Given the description of an element on the screen output the (x, y) to click on. 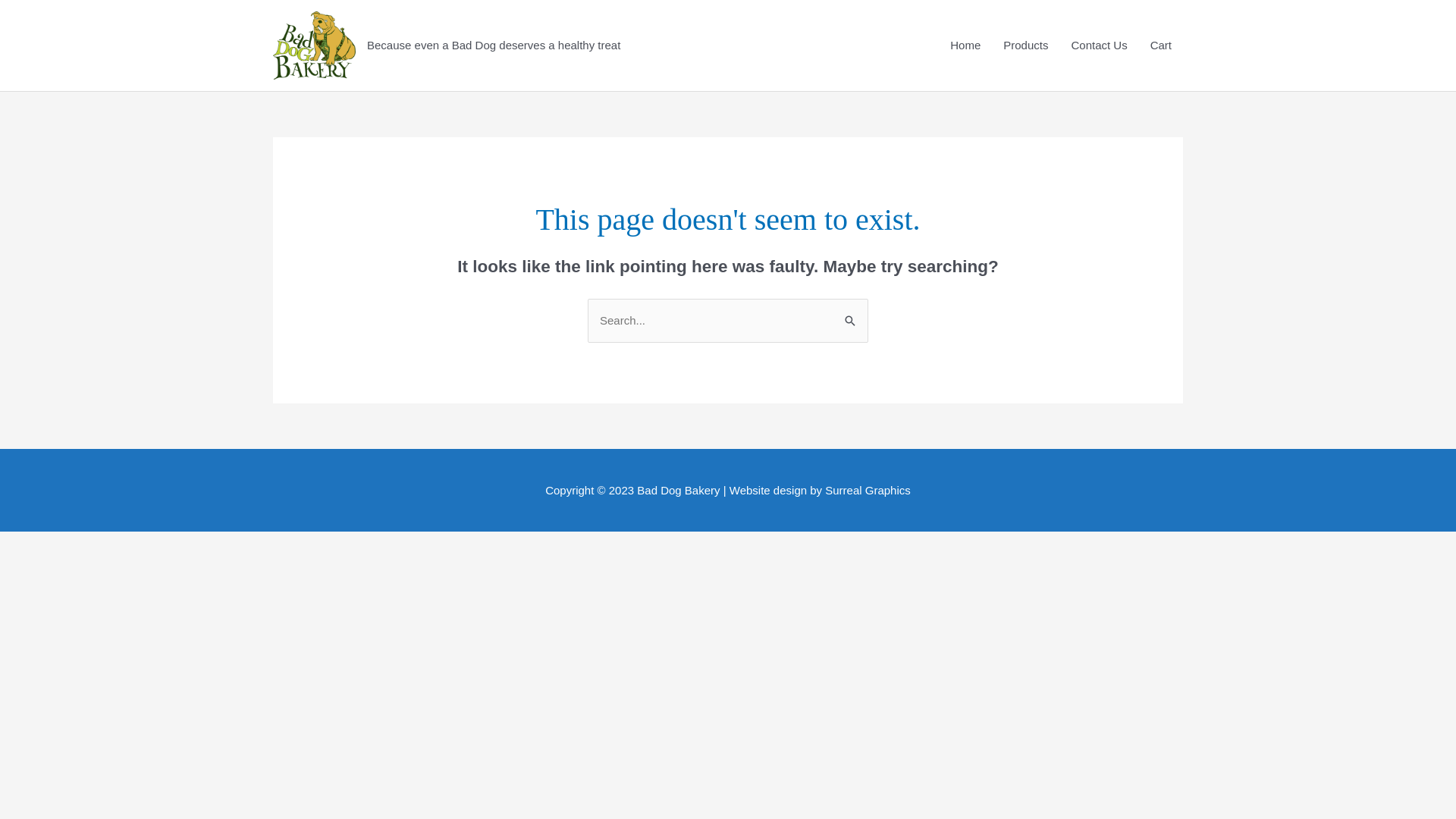
Products Element type: text (1025, 45)
Contact Us Element type: text (1098, 45)
Home Element type: text (964, 45)
Cart Element type: text (1161, 45)
Search Element type: text (851, 313)
